Given the description of an element on the screen output the (x, y) to click on. 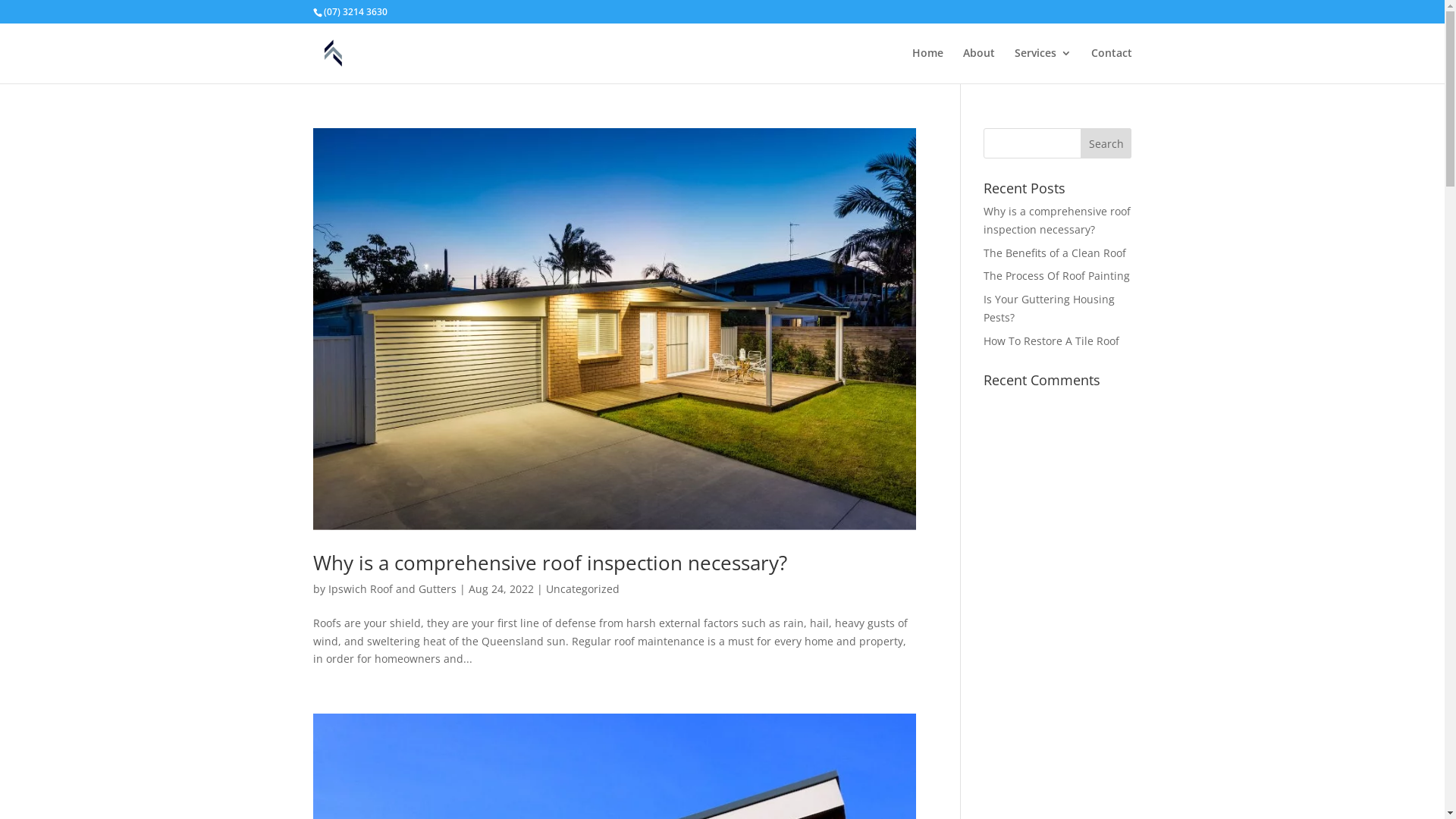
Search Element type: text (1106, 143)
About Element type: text (978, 65)
The Process Of Roof Painting Element type: text (1056, 275)
How To Restore A Tile Roof Element type: text (1051, 340)
Services Element type: text (1042, 65)
Ipswich Roof and Gutters Element type: text (391, 588)
The Benefits of a Clean Roof Element type: text (1054, 252)
Uncategorized Element type: text (582, 588)
Home Element type: text (926, 65)
Why is a comprehensive roof inspection necessary? Element type: text (549, 562)
Contact Element type: text (1110, 65)
Is Your Guttering Housing Pests? Element type: text (1048, 307)
Why is a comprehensive roof inspection necessary? Element type: text (1056, 219)
